Given the description of an element on the screen output the (x, y) to click on. 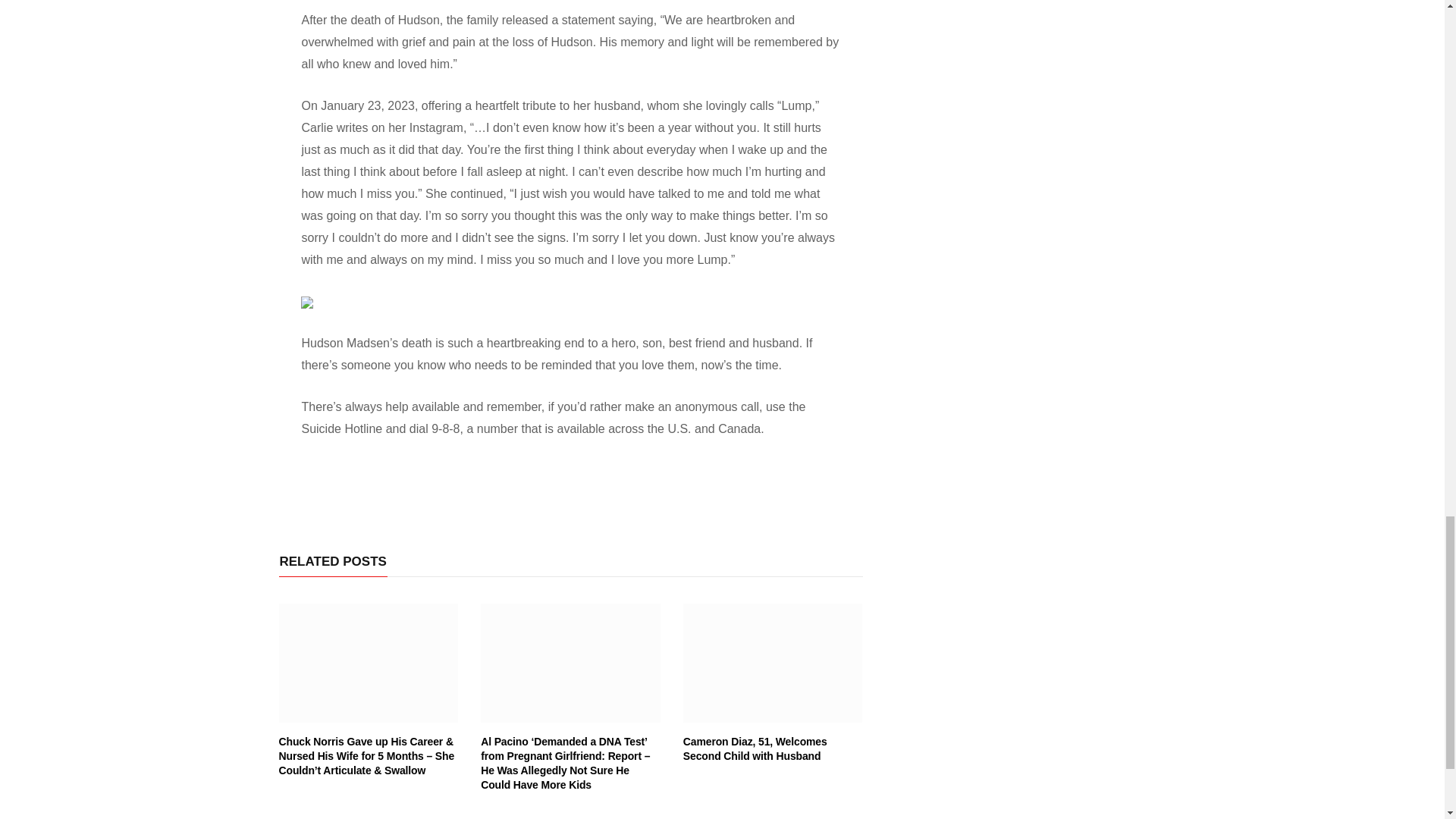
Cameron Diaz, 51, Welcomes Second Child with Husband (754, 748)
Cameron Diaz, 51, Welcomes Second Child with Husband (772, 663)
